Given the description of an element on the screen output the (x, y) to click on. 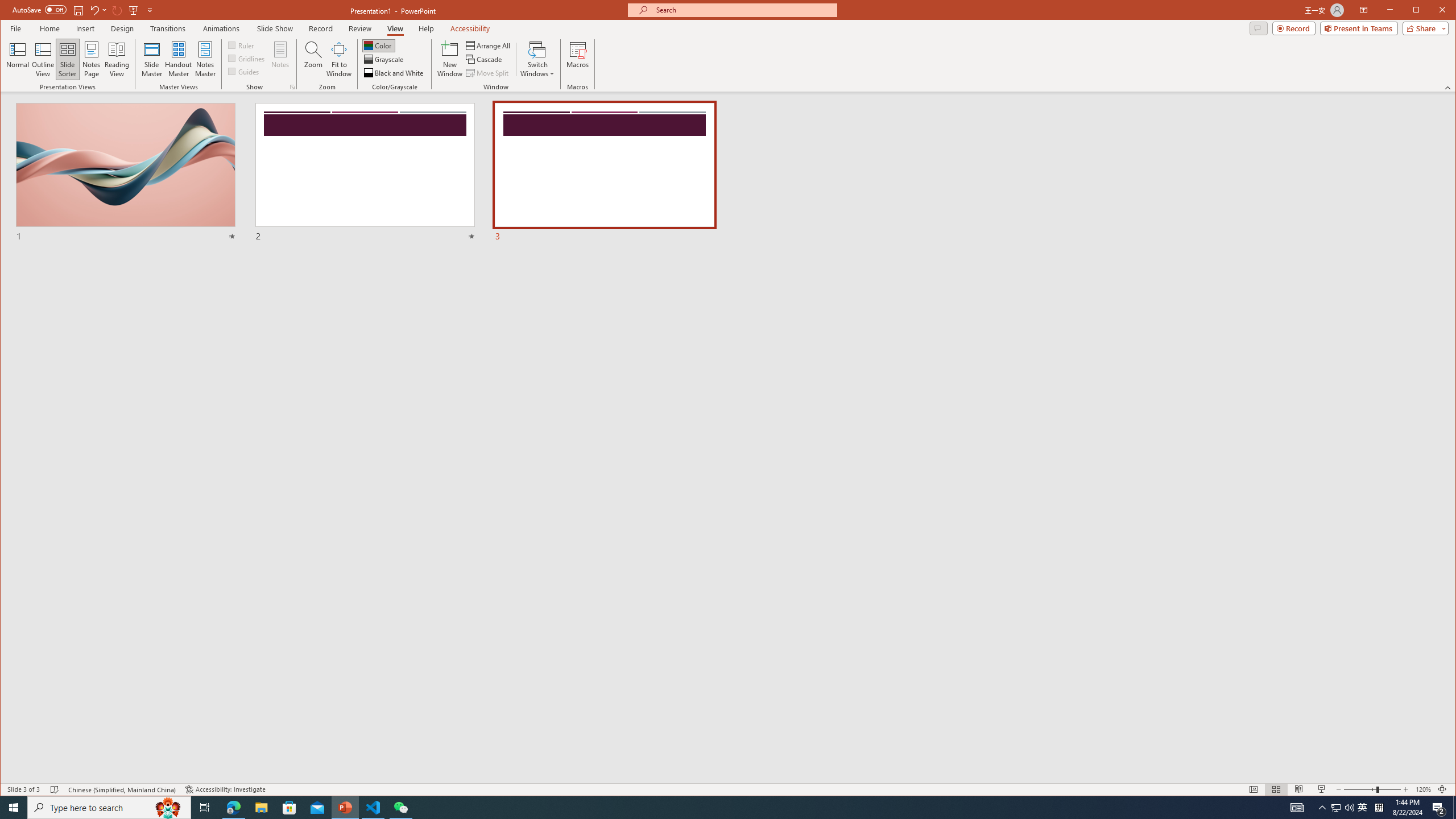
Zoom... (312, 59)
Outline View (42, 59)
Color (378, 45)
